Given the description of an element on the screen output the (x, y) to click on. 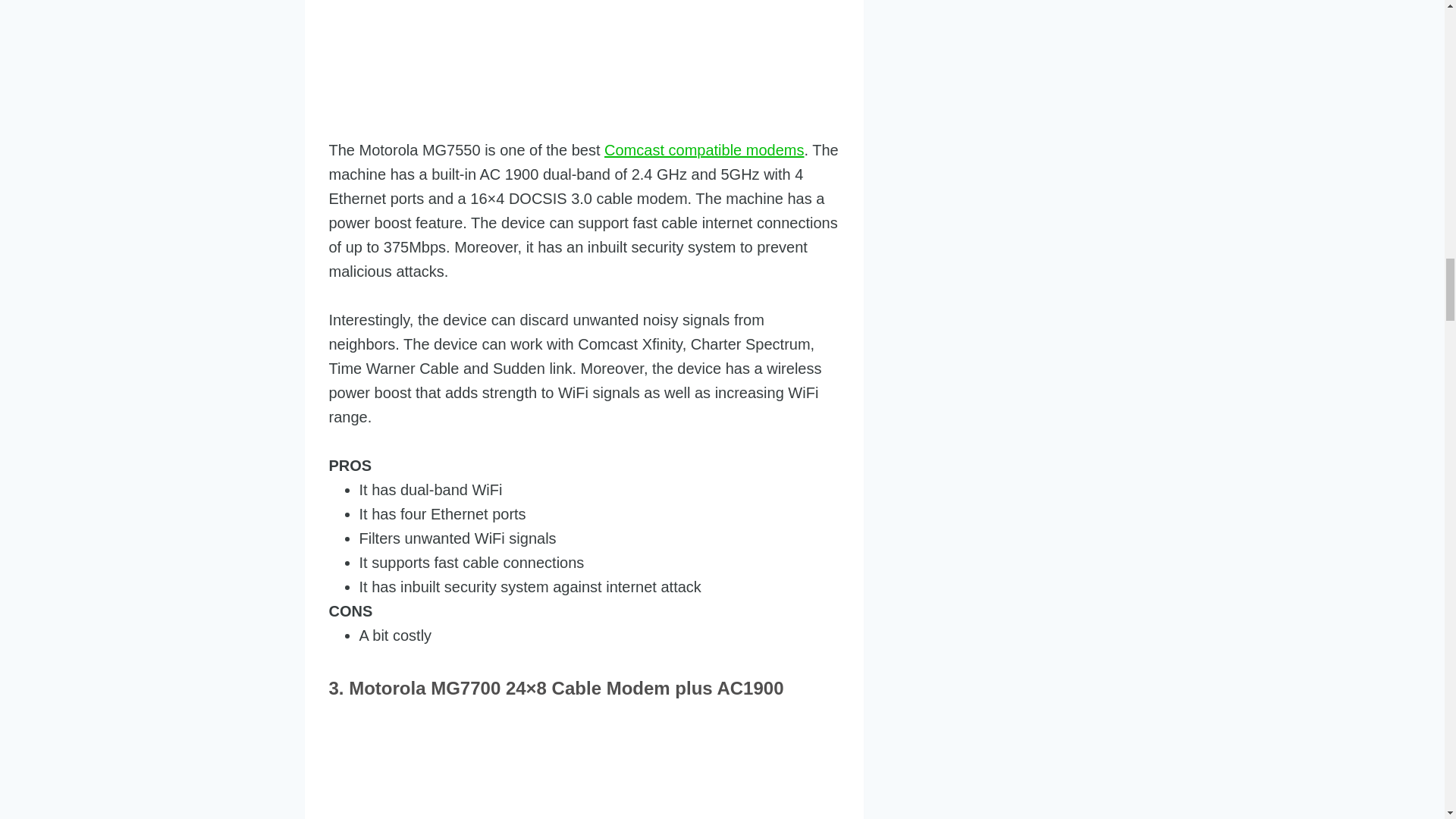
Comcast compatible modems (703, 149)
